Given the description of an element on the screen output the (x, y) to click on. 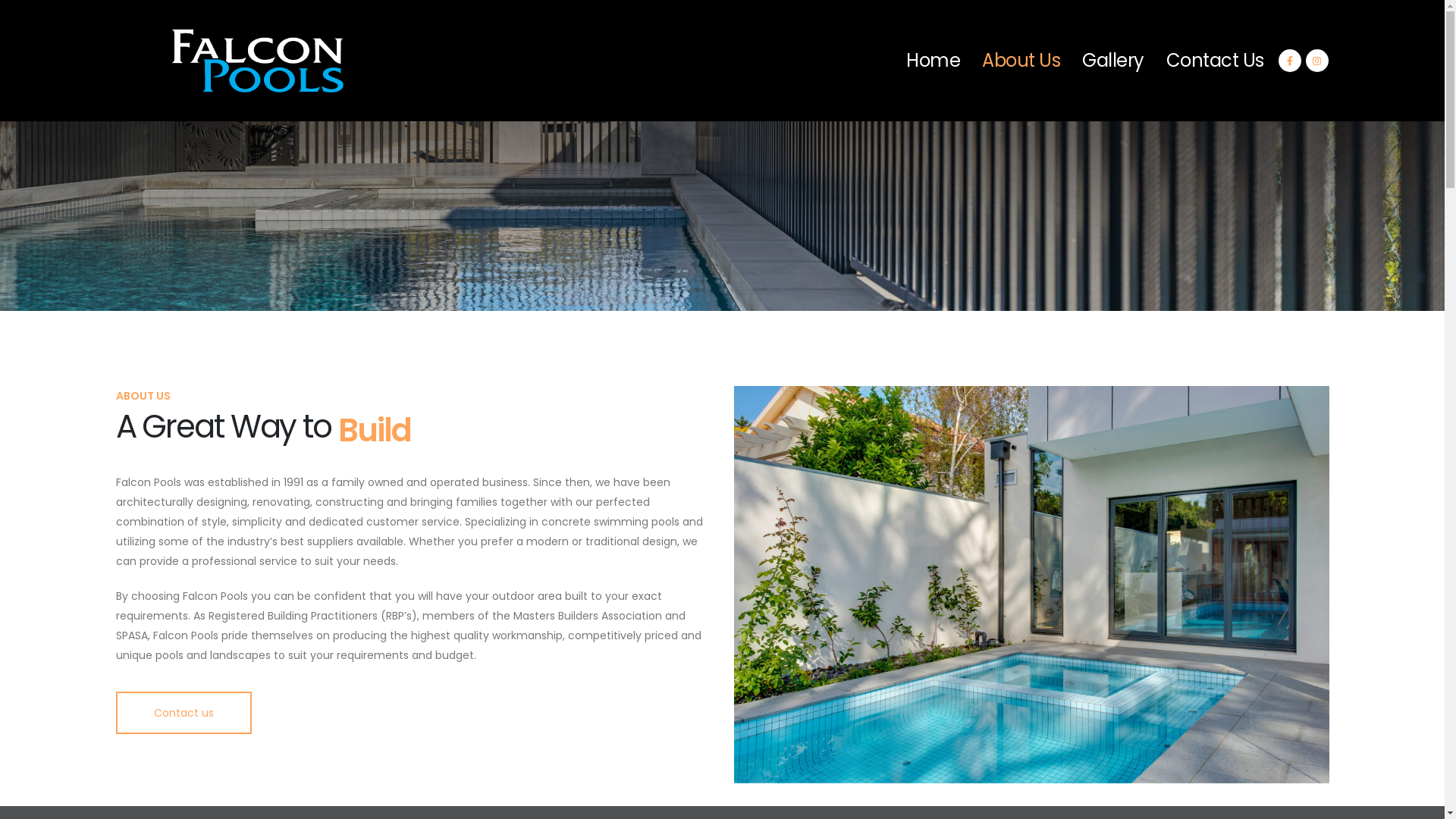
Gallery Element type: text (1112, 60)
Instagram Element type: hover (1316, 59)
Home Element type: text (932, 60)
About Us Element type: text (1020, 60)
Contact us Element type: text (183, 712)
Falcon Pools - Luxury Swimming Pools and Spas Element type: hover (228, 60)
Facebook Element type: hover (1289, 59)
Contact Us Element type: text (1214, 60)
